Given the description of an element on the screen output the (x, y) to click on. 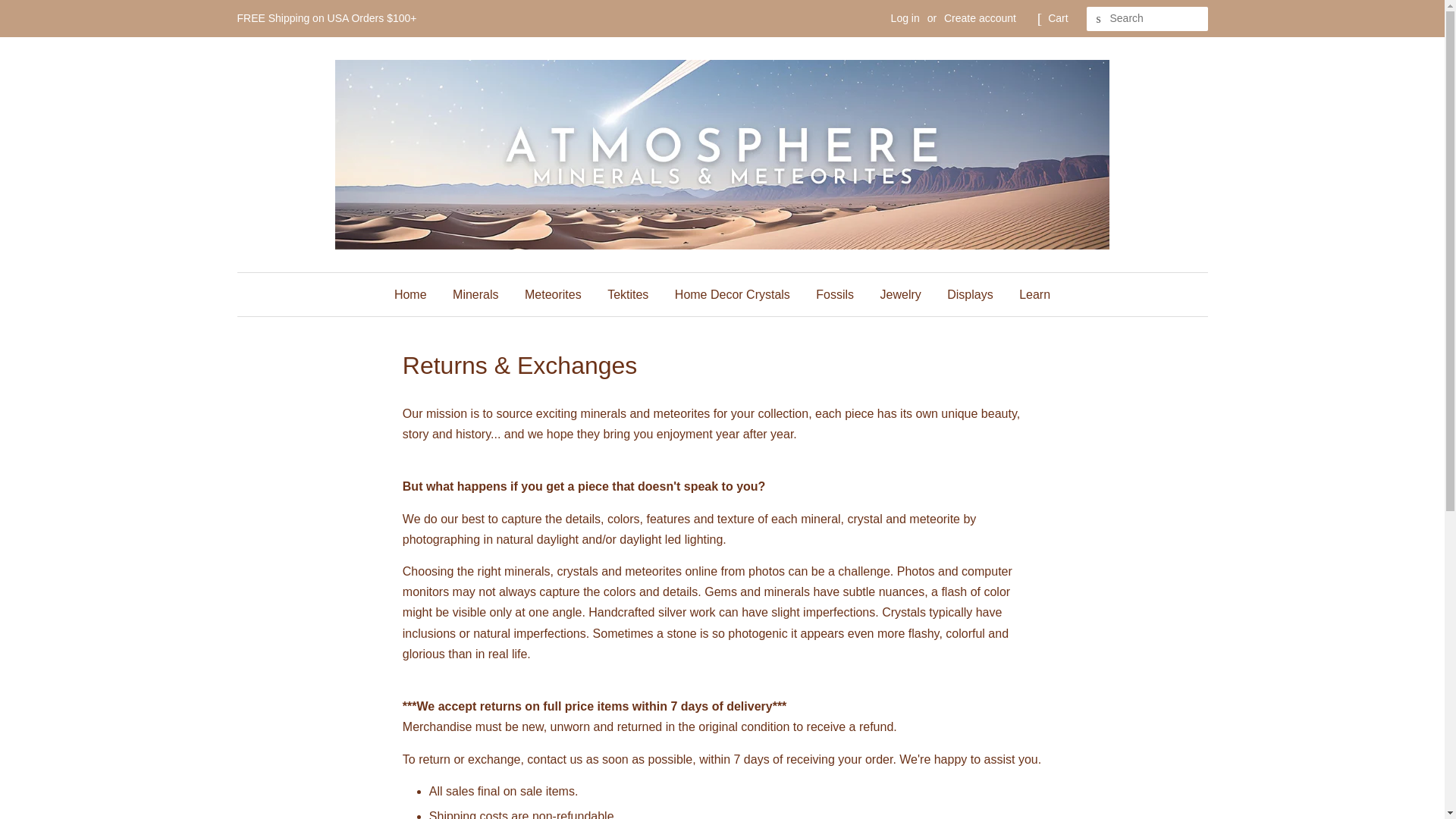
Tektites (627, 294)
Home Decor Crystals (732, 294)
Minerals (475, 294)
Meteorites (552, 294)
Create account (979, 18)
Fossils (834, 294)
Jewelry (901, 294)
Learn (1028, 294)
Log in (905, 18)
Displays (970, 294)
Search (1097, 18)
Home (416, 294)
Cart (1057, 18)
